Given the description of an element on the screen output the (x, y) to click on. 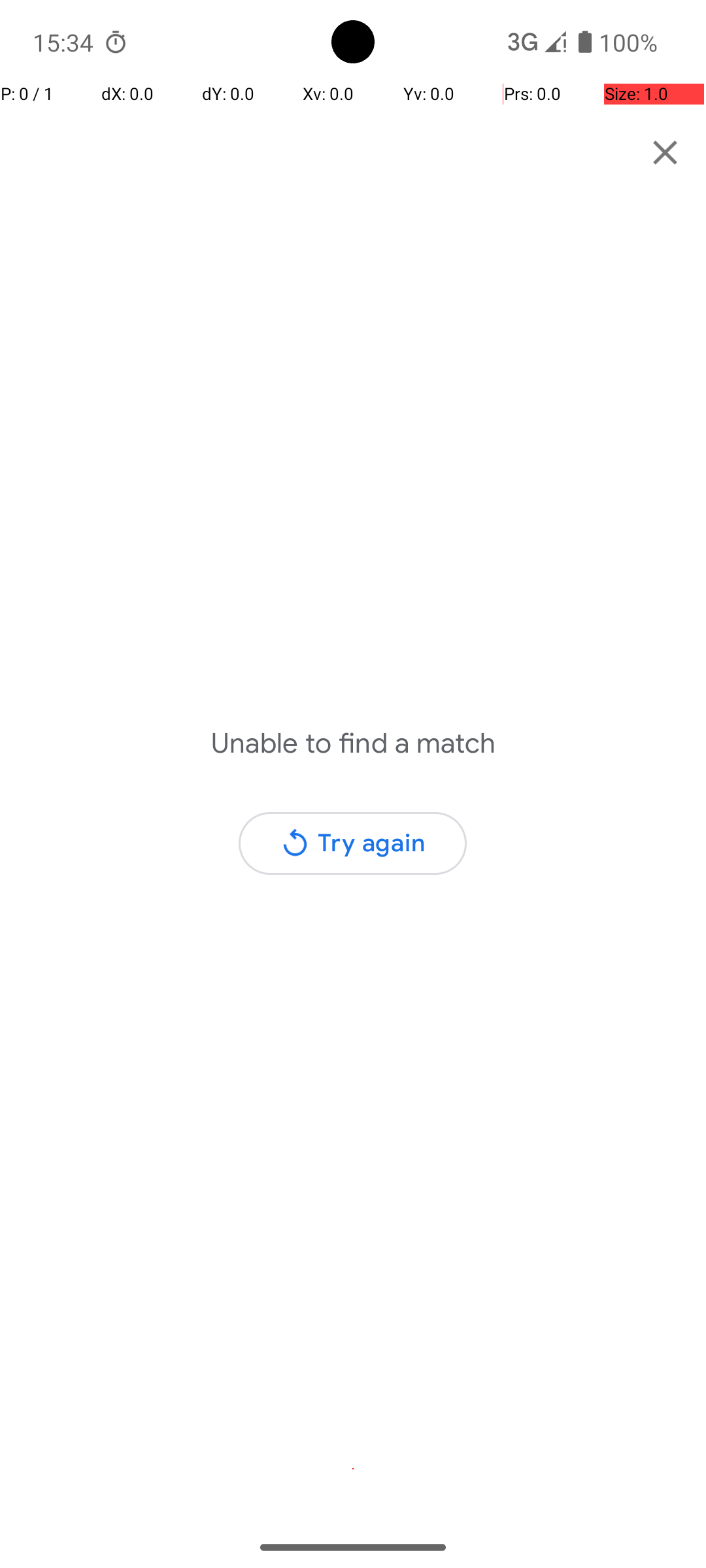
Unable to find a match Element type: android.widget.TextView (352, 743)
